Given the description of an element on the screen output the (x, y) to click on. 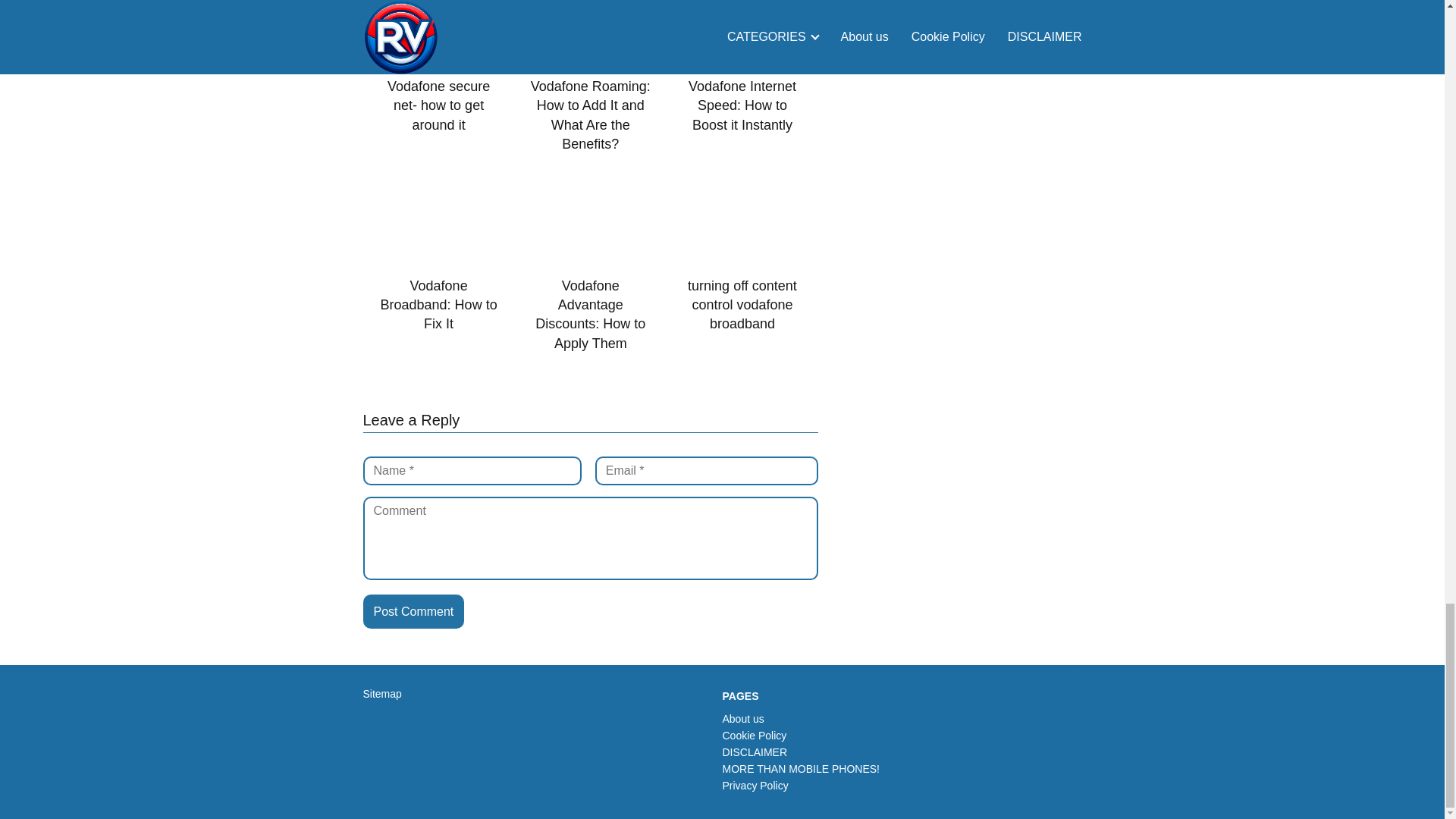
Post Comment (413, 611)
